Given the description of an element on the screen output the (x, y) to click on. 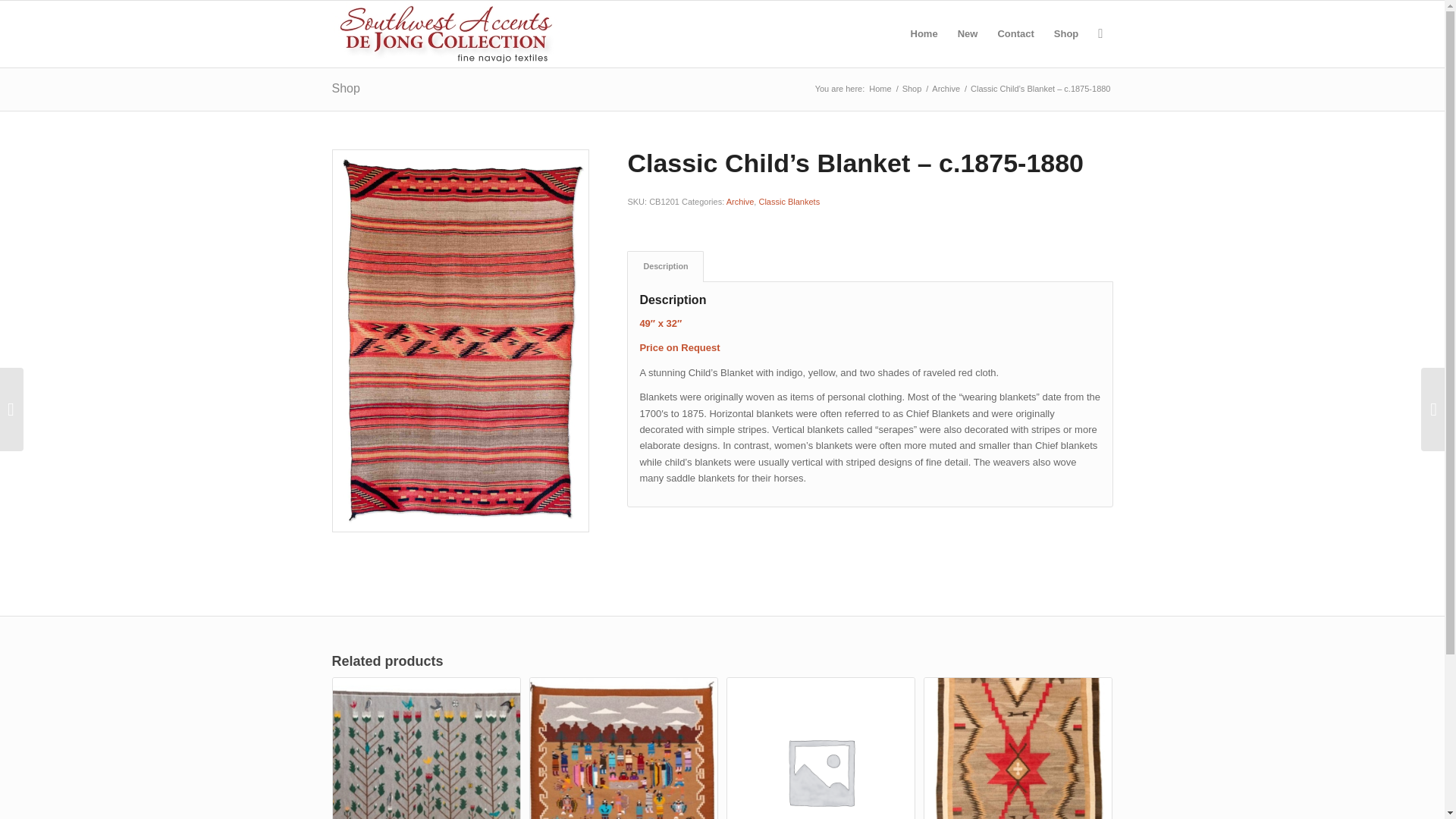
Permanent Link: Shop (345, 88)
Archive (740, 201)
Classic Blankets (788, 201)
Description (665, 265)
Navajo Textiles Santa Fe (879, 89)
Shop (911, 89)
Home (879, 89)
Shop (345, 88)
Archive (946, 89)
Description (665, 265)
Archive (946, 89)
Shop (911, 89)
